Given the description of an element on the screen output the (x, y) to click on. 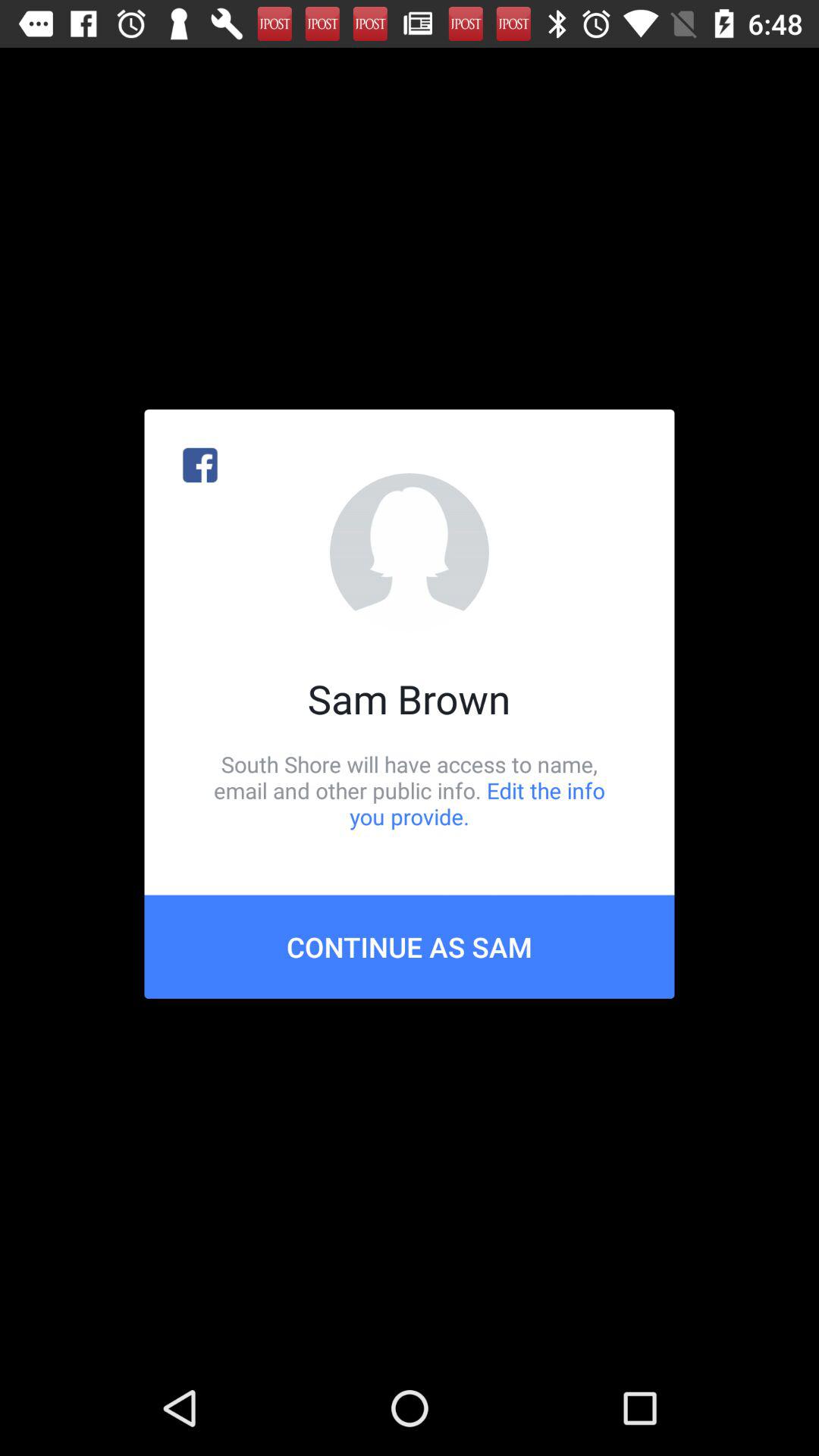
turn off item below sam brown item (409, 790)
